Given the description of an element on the screen output the (x, y) to click on. 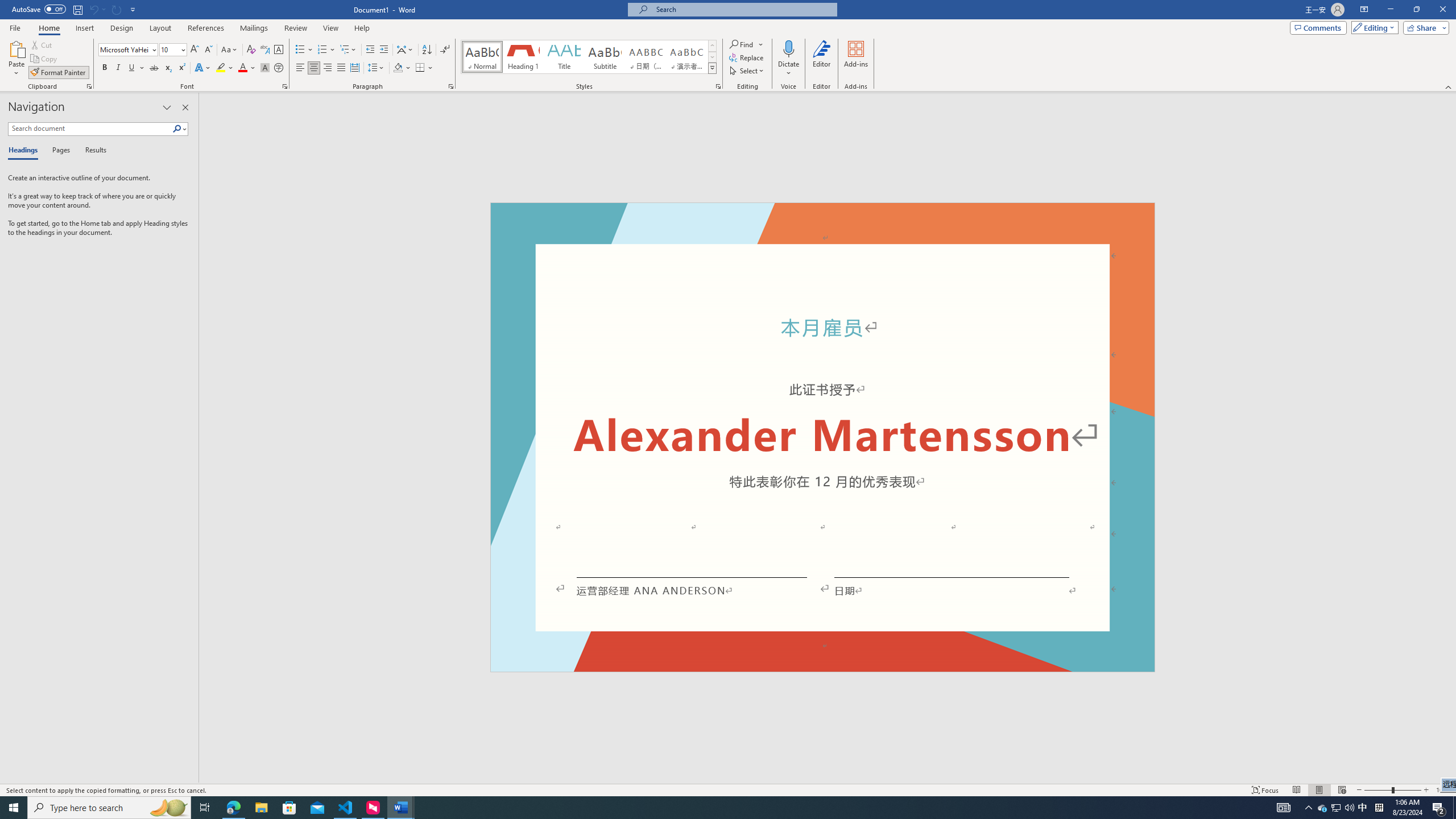
Home (48, 28)
Mailings (253, 28)
Layout (160, 28)
Class: NetUIImage (712, 68)
Line and Paragraph Spacing (376, 67)
Results (91, 150)
Text Highlight Color (224, 67)
Search (179, 128)
Paste (16, 58)
Subscript (167, 67)
Subtitle (605, 56)
Shading RGB(0, 0, 0) (397, 67)
Can't Undo (92, 9)
Replace... (747, 56)
Search document (89, 128)
